Given the description of an element on the screen output the (x, y) to click on. 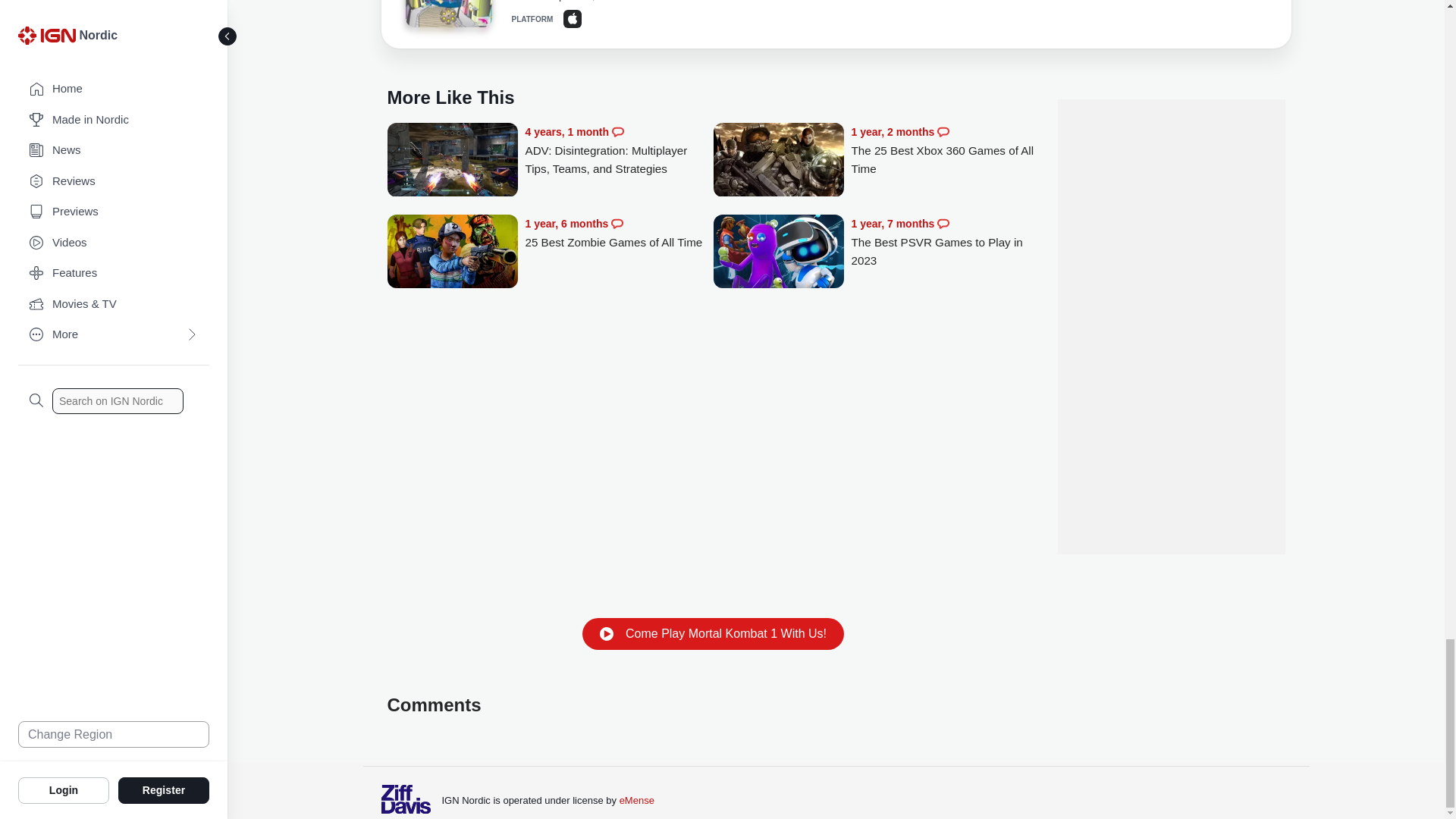
ADV: Disintegration: Multiplayer Tips, Teams, and Strategies (618, 150)
Comments (943, 223)
The 25 Best Xbox 360 Games of All Time (944, 150)
The Best PSVR Games to Play in 2023 (778, 252)
25 Best Zombie Games of All Time (451, 252)
Shooter (448, 13)
Shooter (448, 15)
The Best PSVR Games to Play in 2023 (944, 242)
IPHONE (571, 18)
Comments (943, 132)
